Given the description of an element on the screen output the (x, y) to click on. 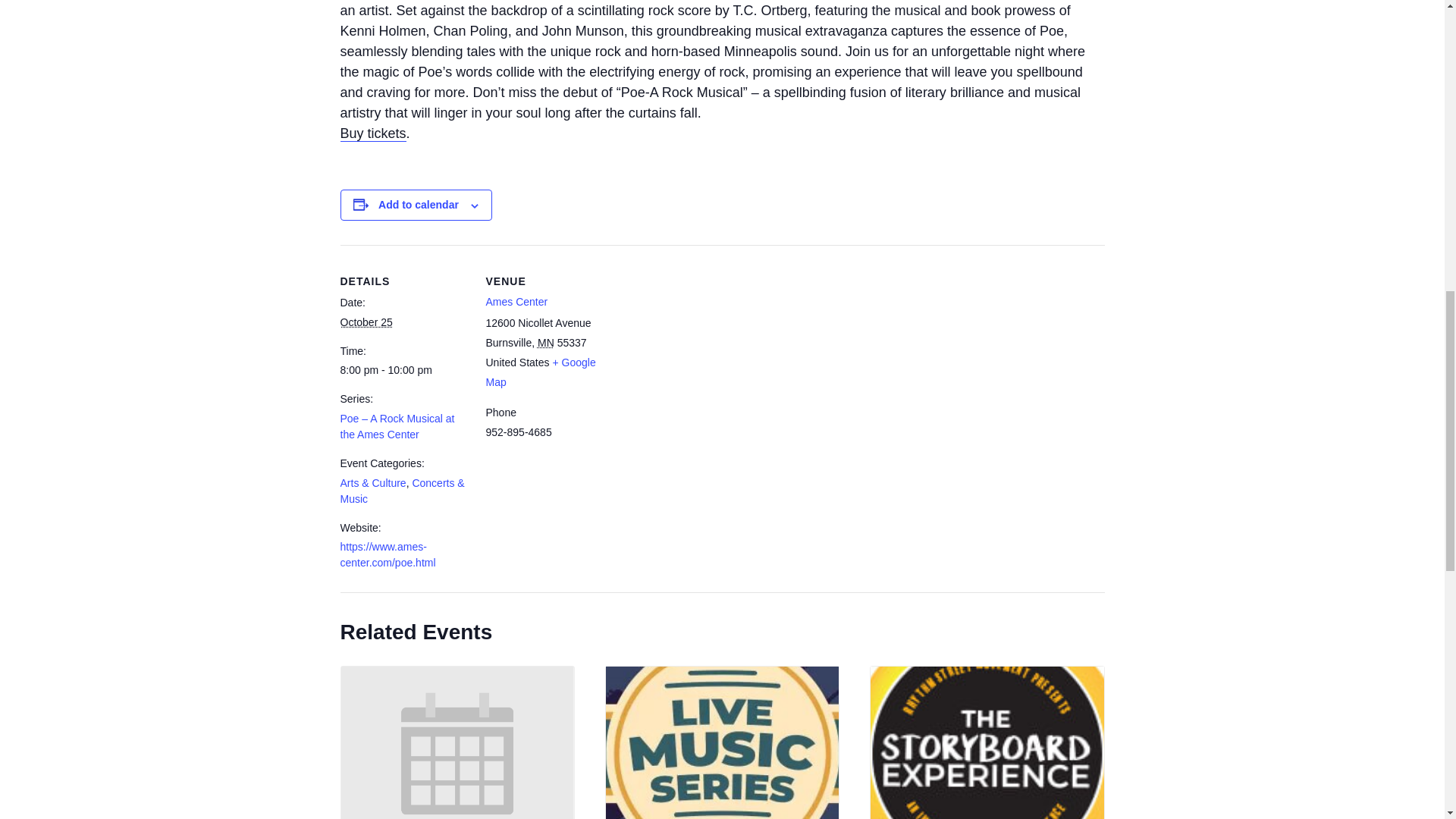
Buy tickets (372, 133)
2024-10-25 (403, 370)
Click to view a Google Map (539, 372)
Minnesota (545, 342)
Google maps iframe displaying the address to Ames Center (710, 349)
Ames Center (515, 301)
Add to calendar (418, 204)
2024-10-25 (365, 322)
